Given the description of an element on the screen output the (x, y) to click on. 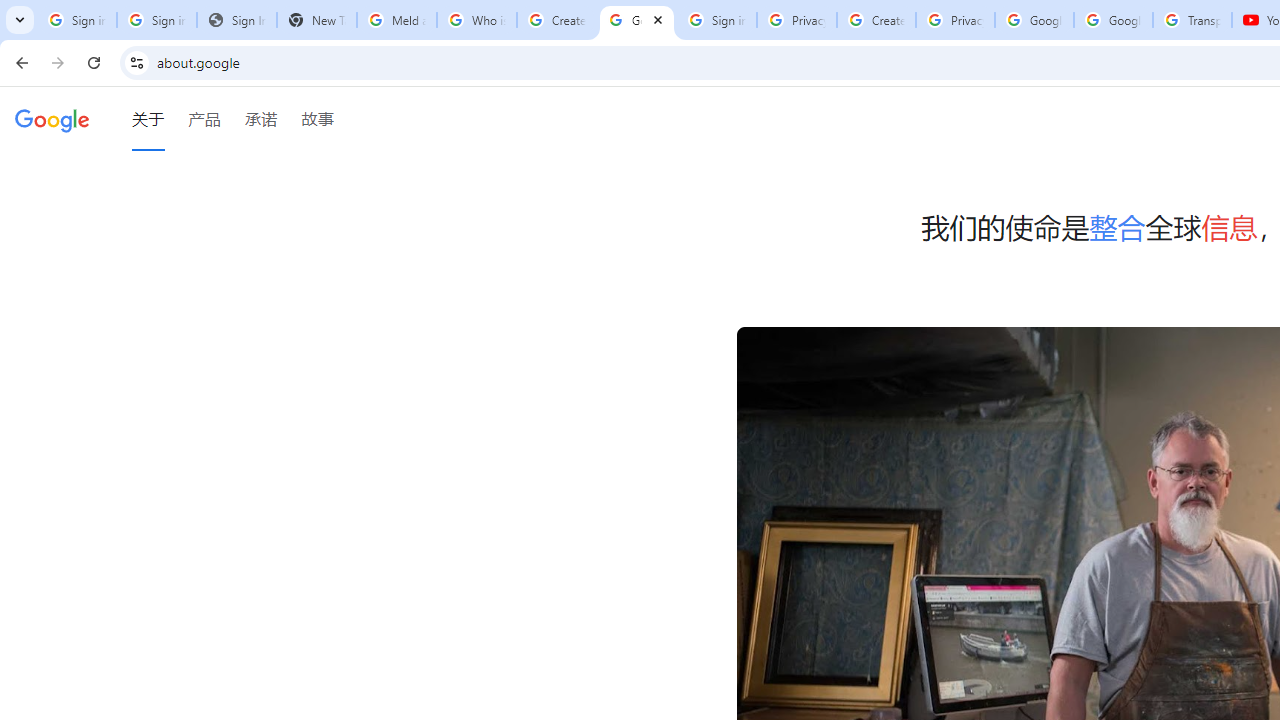
Google (52, 119)
Sign in - Google Accounts (156, 20)
Who is my administrator? - Google Account Help (476, 20)
